Given the description of an element on the screen output the (x, y) to click on. 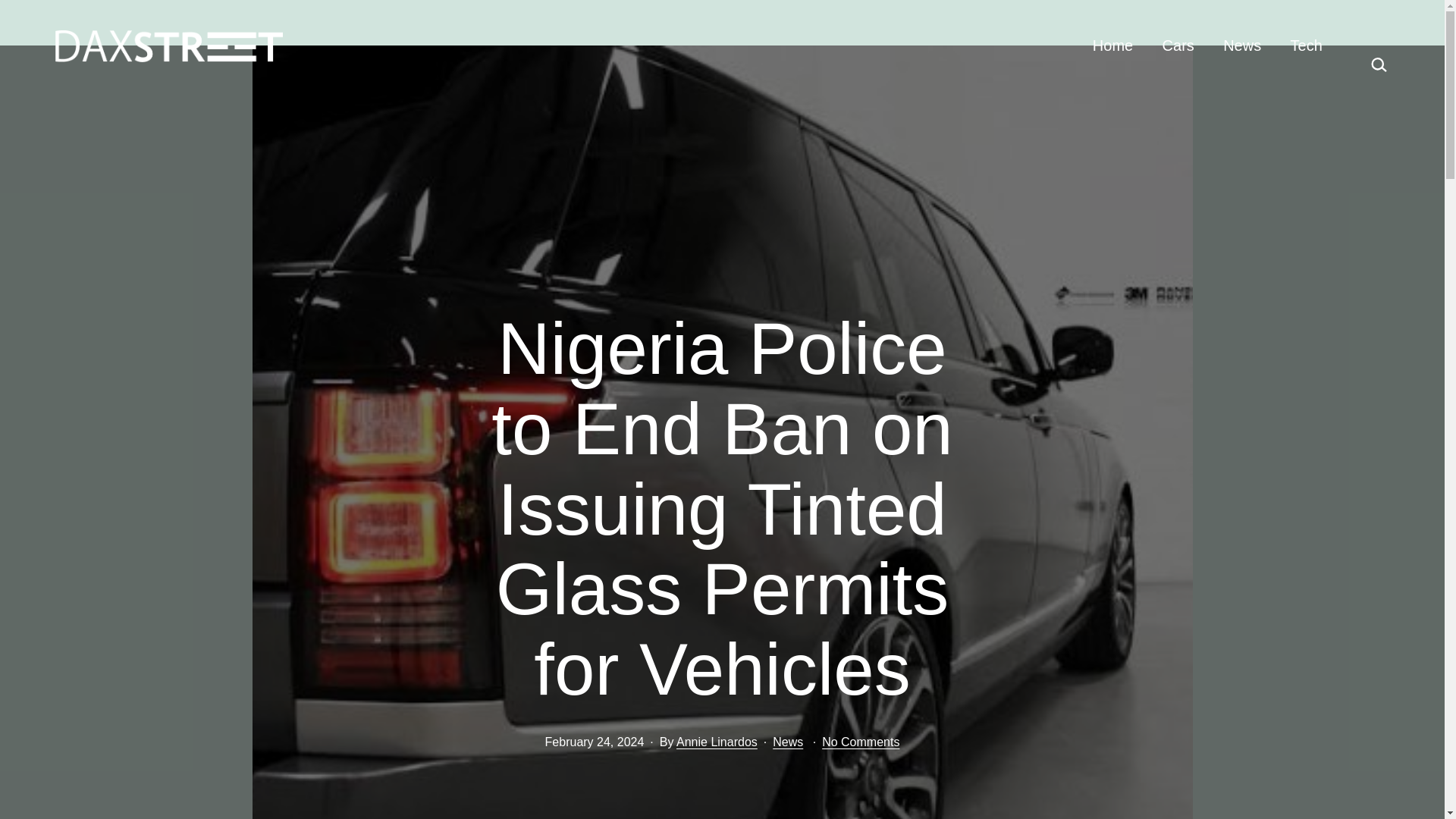
News (788, 741)
Home (1112, 45)
Tech (1305, 45)
Cars (1177, 45)
Annie Linardos (717, 741)
News (1241, 45)
